Given the description of an element on the screen output the (x, y) to click on. 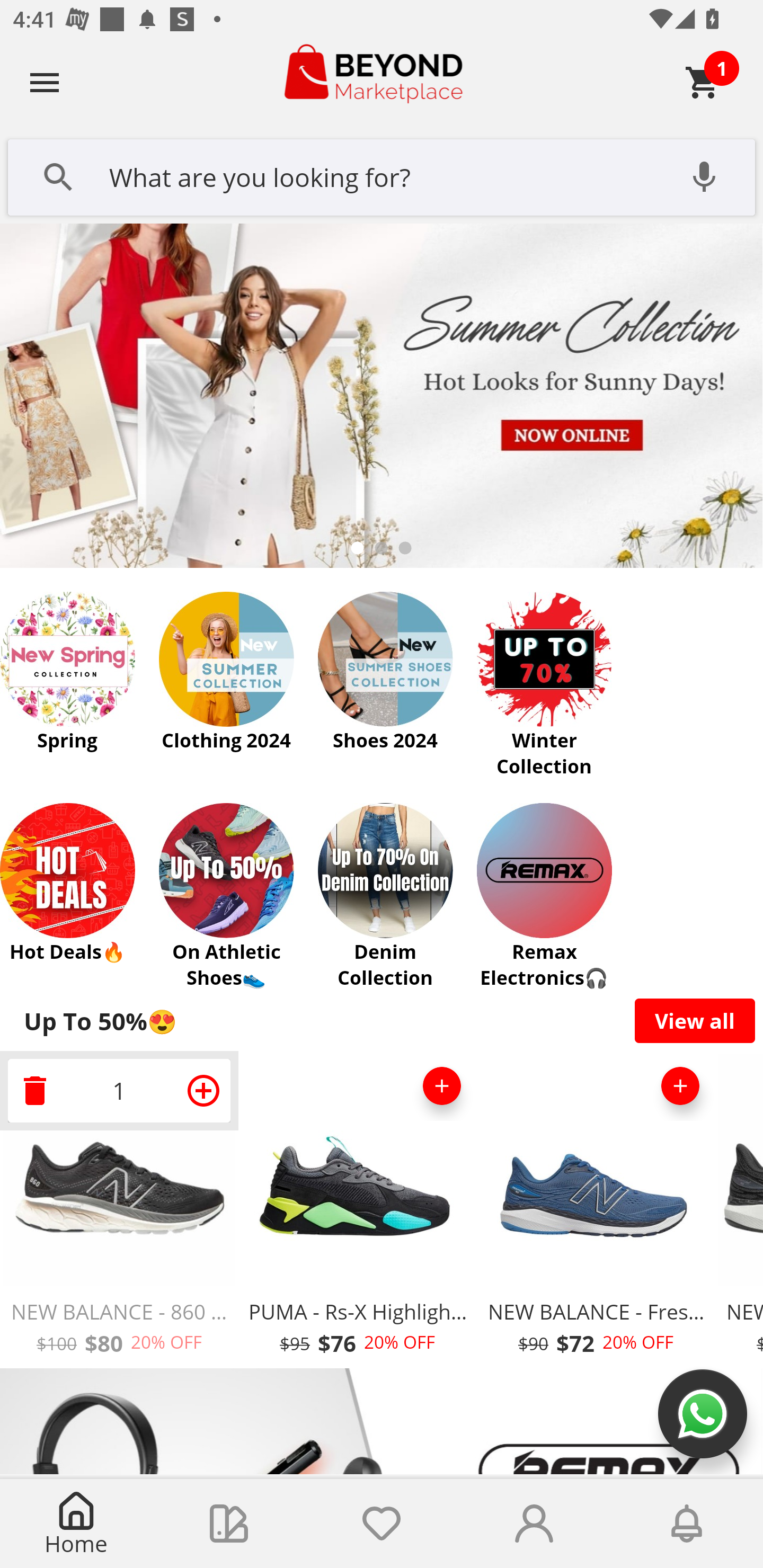
Navigate up (44, 82)
What are you looking for? (381, 175)
View all (694, 1020)
1 NEW BALANCE - 860 Running Shoes $100 $80 20% OFF (119, 1209)
Collections (228, 1523)
Wishlist (381, 1523)
Account (533, 1523)
Notifications (686, 1523)
